Given the description of an element on the screen output the (x, y) to click on. 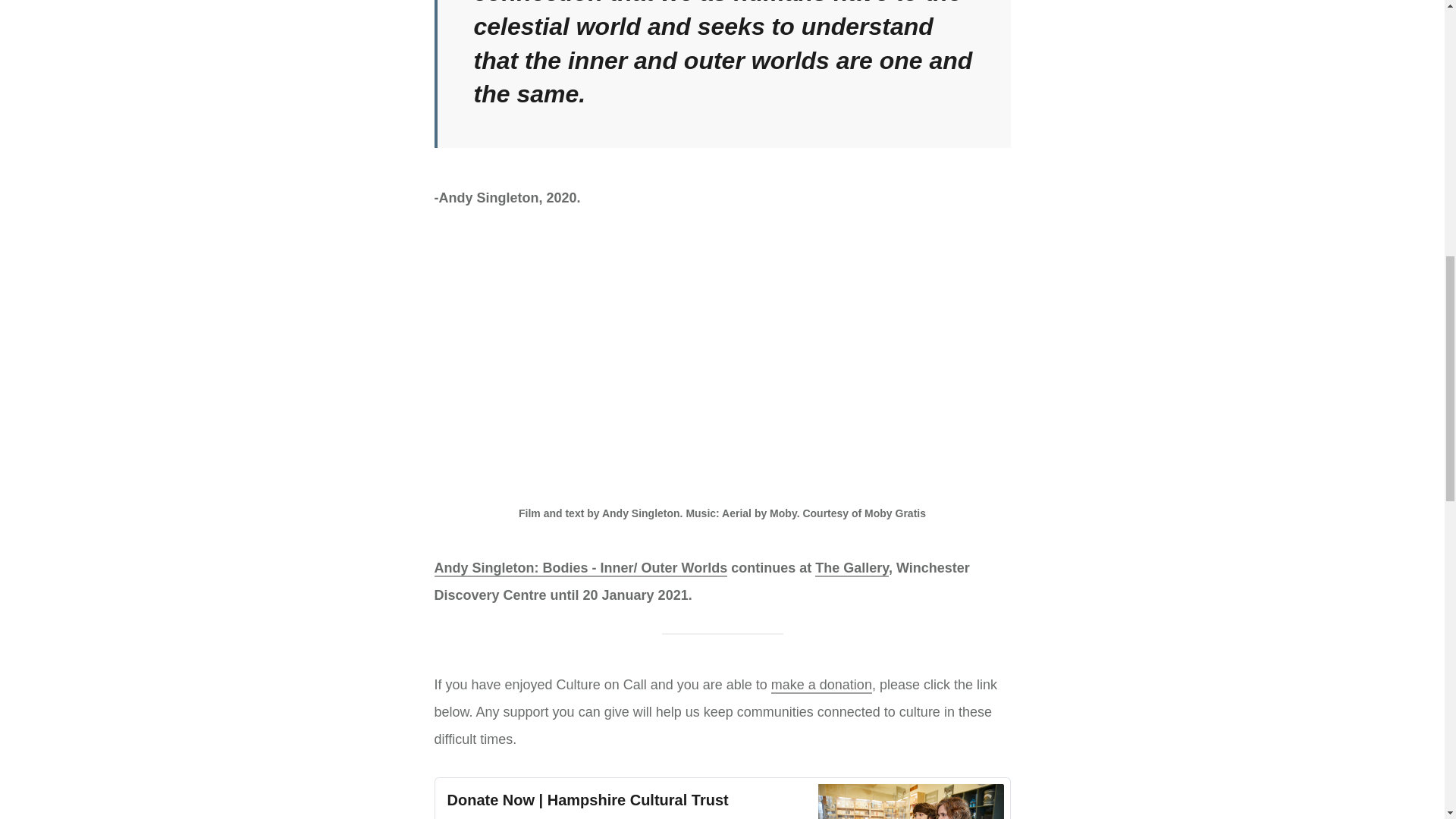
The Gallery (851, 568)
make a donation (821, 685)
